Given the description of an element on the screen output the (x, y) to click on. 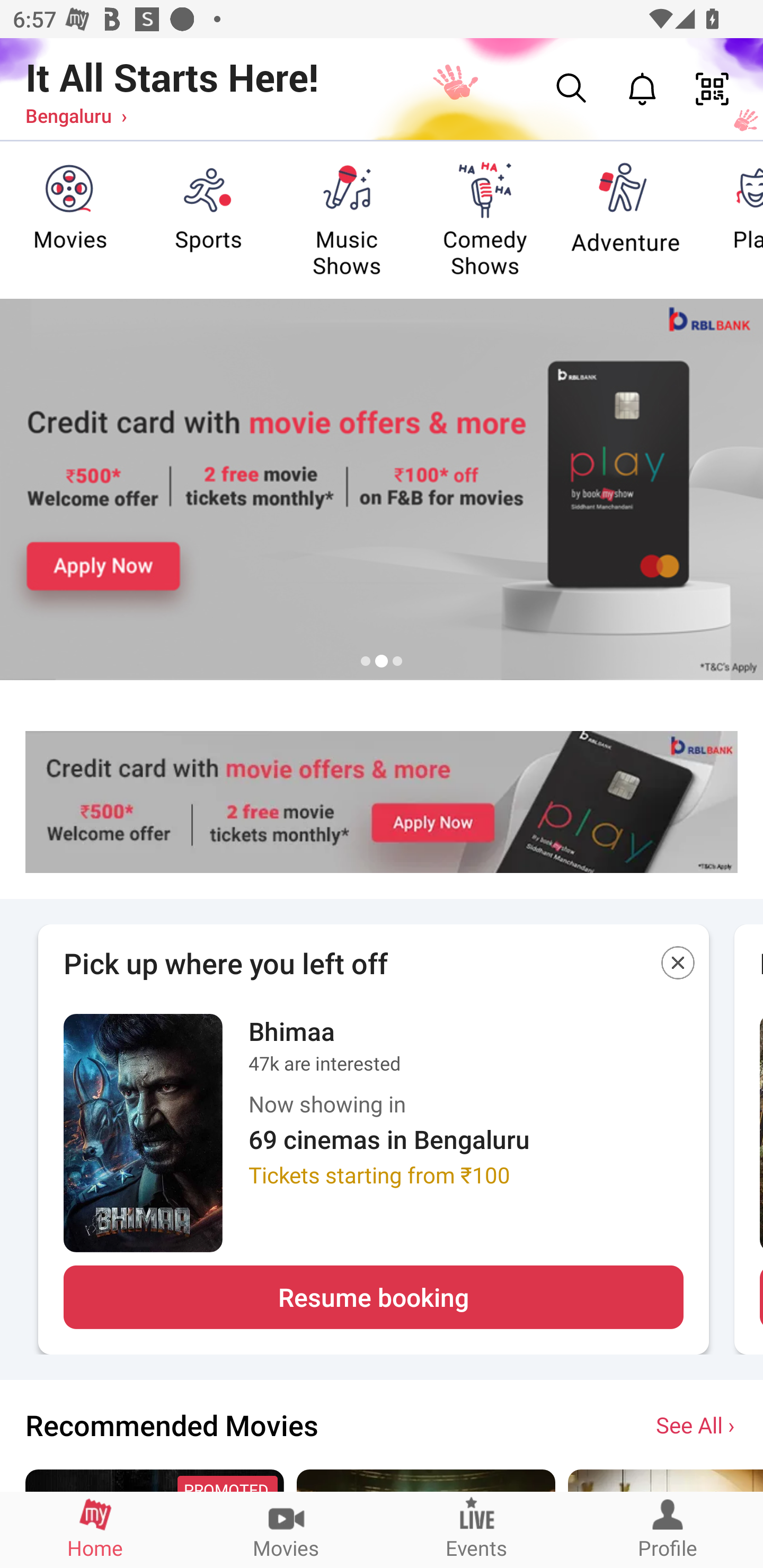
Bengaluru  › (76, 114)
  (678, 966)
Resume booking (373, 1297)
See All › (696, 1424)
Home (95, 1529)
Movies (285, 1529)
Events (476, 1529)
Profile (667, 1529)
